Given the description of an element on the screen output the (x, y) to click on. 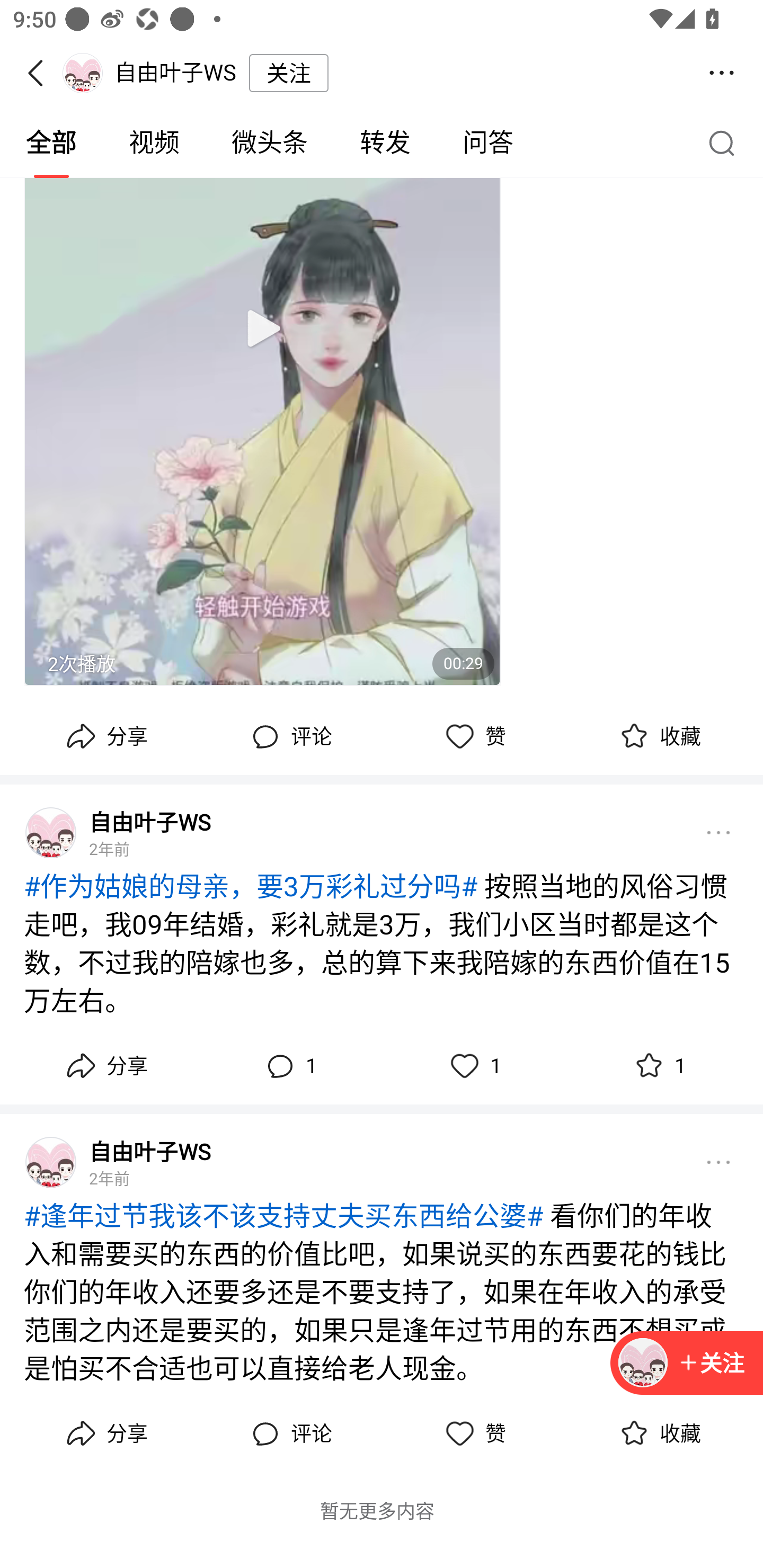
返回 (41, 72)
更多操作 (721, 72)
关注 (288, 72)
全部 (51, 143)
视频 (154, 143)
微头条 (269, 143)
转发 (385, 143)
问答 (487, 143)
搜索 (726, 142)
分享 (104, 736)
评论, 评论 (288, 736)
,收藏 收藏 (658, 736)
自由叶子WS (149, 822)
自由叶子WS头像 (50, 832)
更多 (718, 832)
分享 (104, 1065)
评论,1 1 (288, 1065)
收藏,1 1 (658, 1065)
自由叶子WS (149, 1151)
自由叶子WS头像 (50, 1161)
更多 (718, 1161)
    关注 (686, 1363)
    关注 (711, 1363)
分享 (104, 1433)
评论, 评论 (288, 1433)
,收藏 收藏 (658, 1433)
暂无更多内容 (376, 1510)
